Given the description of an element on the screen output the (x, y) to click on. 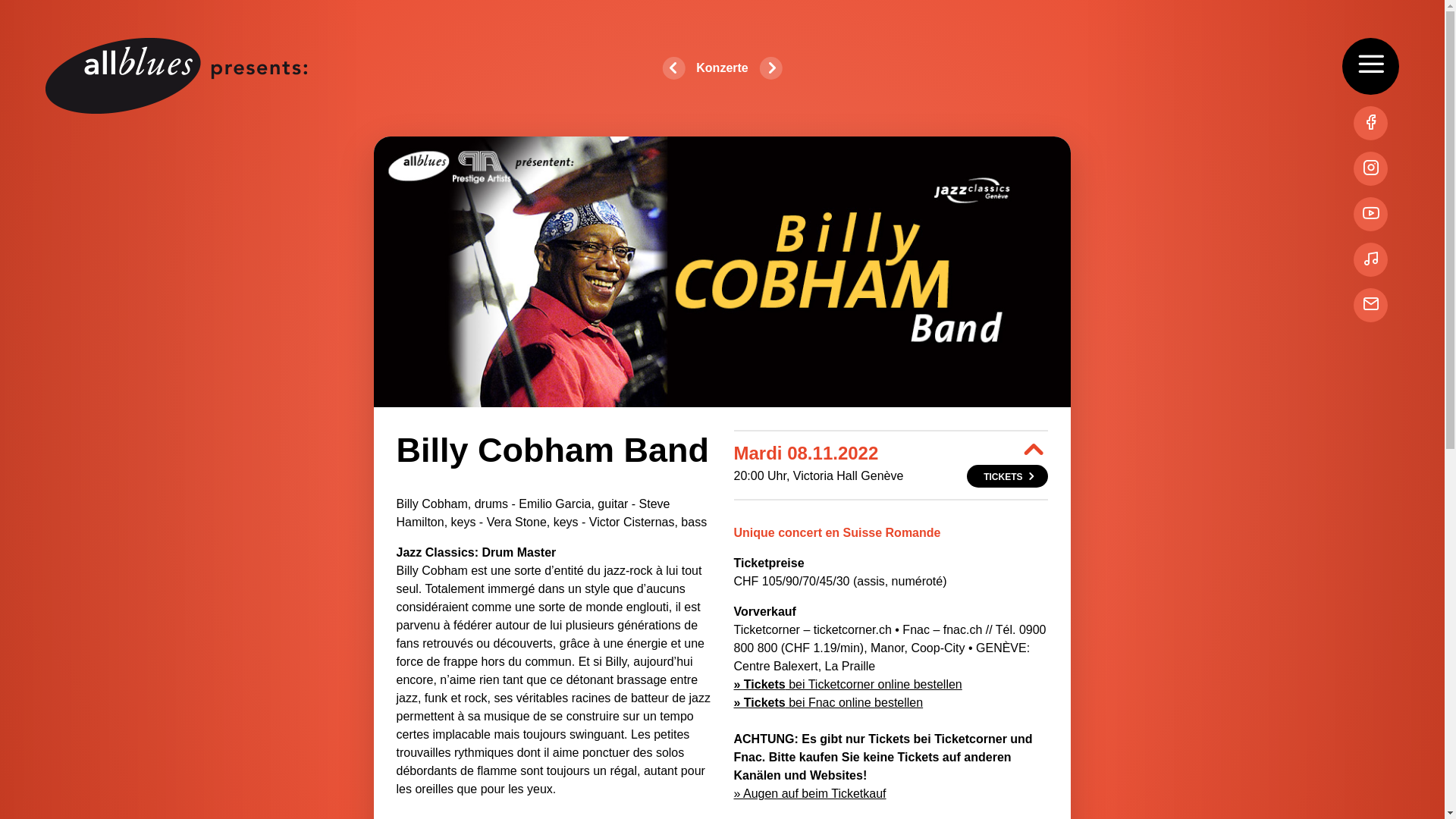
TICKETS Element type: text (1007, 475)
